Given the description of an element on the screen output the (x, y) to click on. 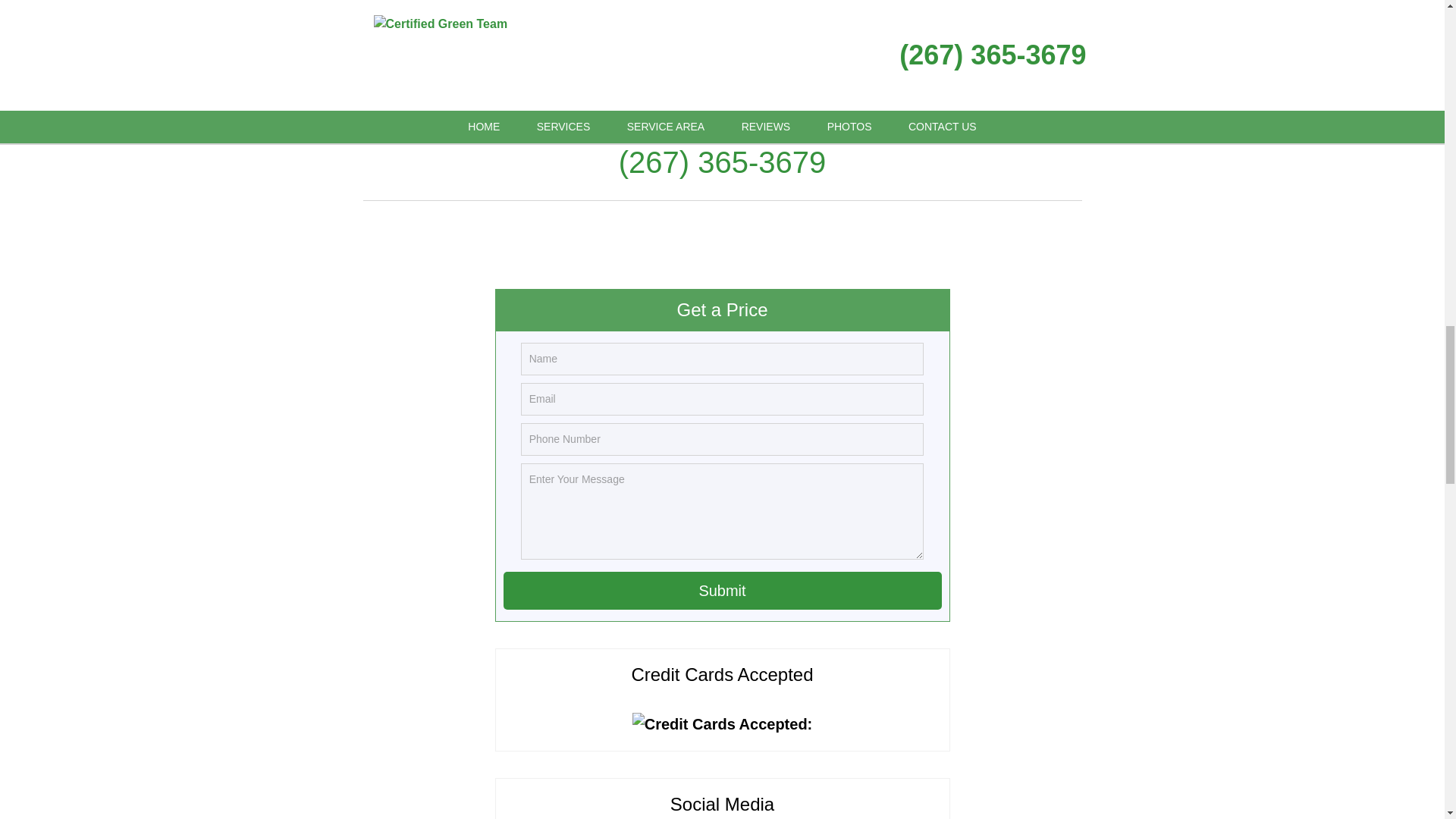
Submit (722, 590)
